Given the description of an element on the screen output the (x, y) to click on. 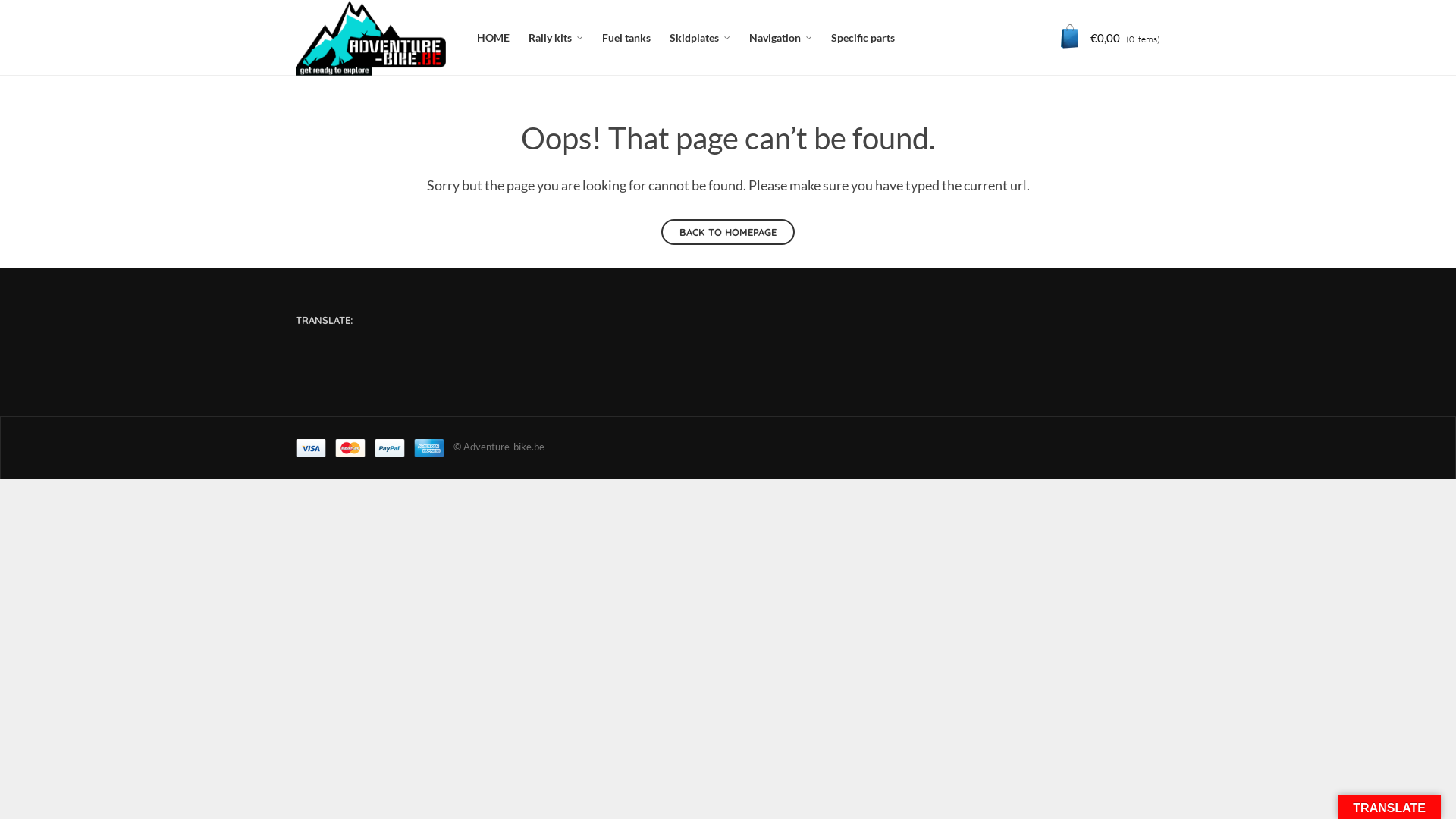
Specific parts Element type: text (862, 37)
Rally kits Element type: text (555, 38)
Fuel tanks Element type: text (626, 37)
Navigation Element type: text (780, 38)
BACK TO HOMEPAGE Element type: text (727, 232)
HOME Element type: text (492, 37)
Skidplates Element type: text (699, 38)
